Given the description of an element on the screen output the (x, y) to click on. 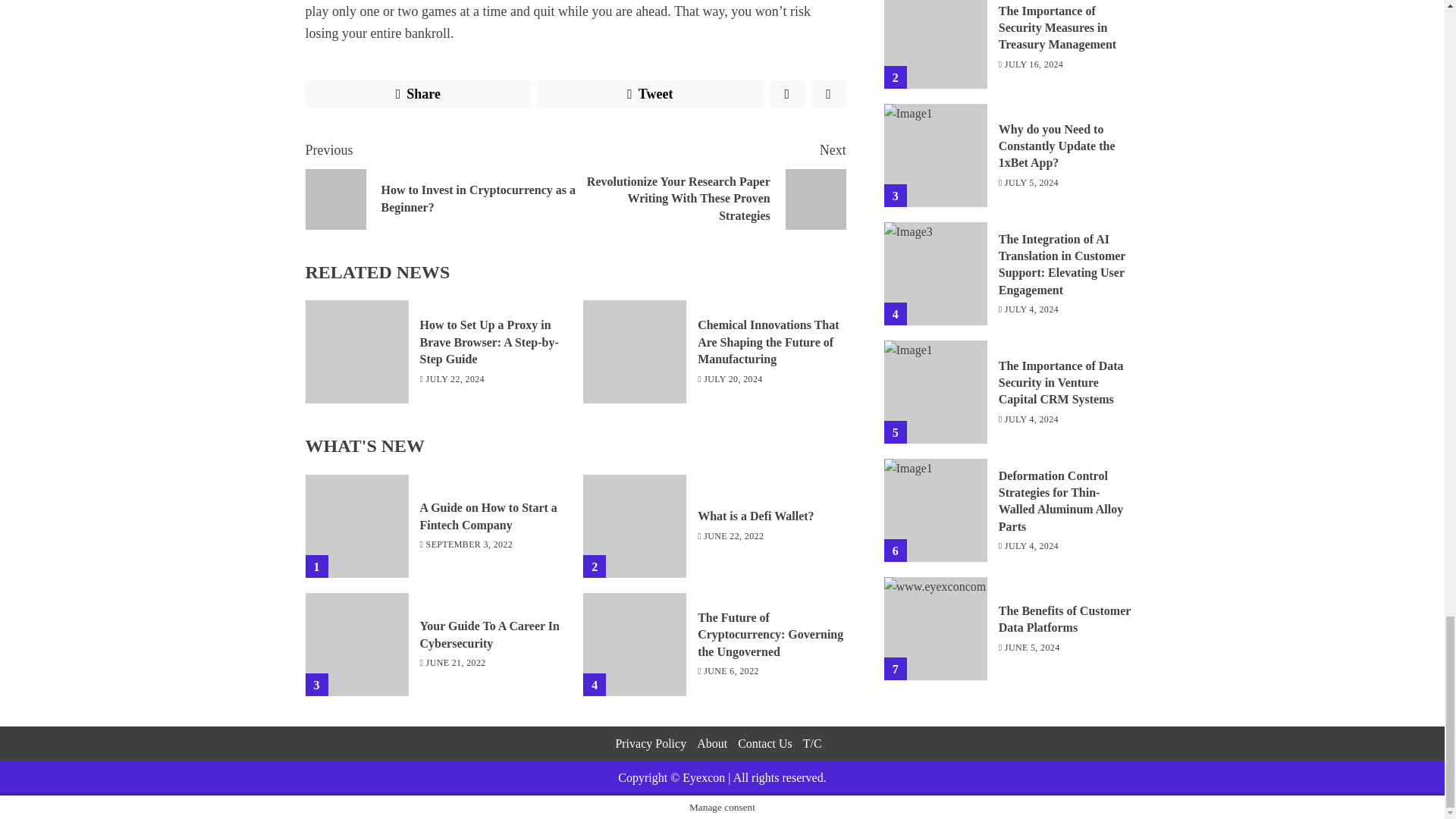
Share (417, 93)
The Future of Cryptocurrency: Governing the Ungoverned (634, 644)
How to Set Up a Proxy in Brave Browser: A Step-by-Step Guide (355, 351)
What is a Defi Wallet? (755, 516)
Tweet (649, 93)
The Future of Cryptocurrency: Governing the Ungoverned (770, 634)
What is a Defi Wallet? (634, 526)
How to Set Up a Proxy in Brave Browser: A Step-by-Step Guide (489, 342)
A Guide on How to Start a Fintech Company (488, 516)
A Guide on How to Start a Fintech Company (439, 184)
Your Guide To A Career In Cybersecurity (355, 526)
